Given the description of an element on the screen output the (x, y) to click on. 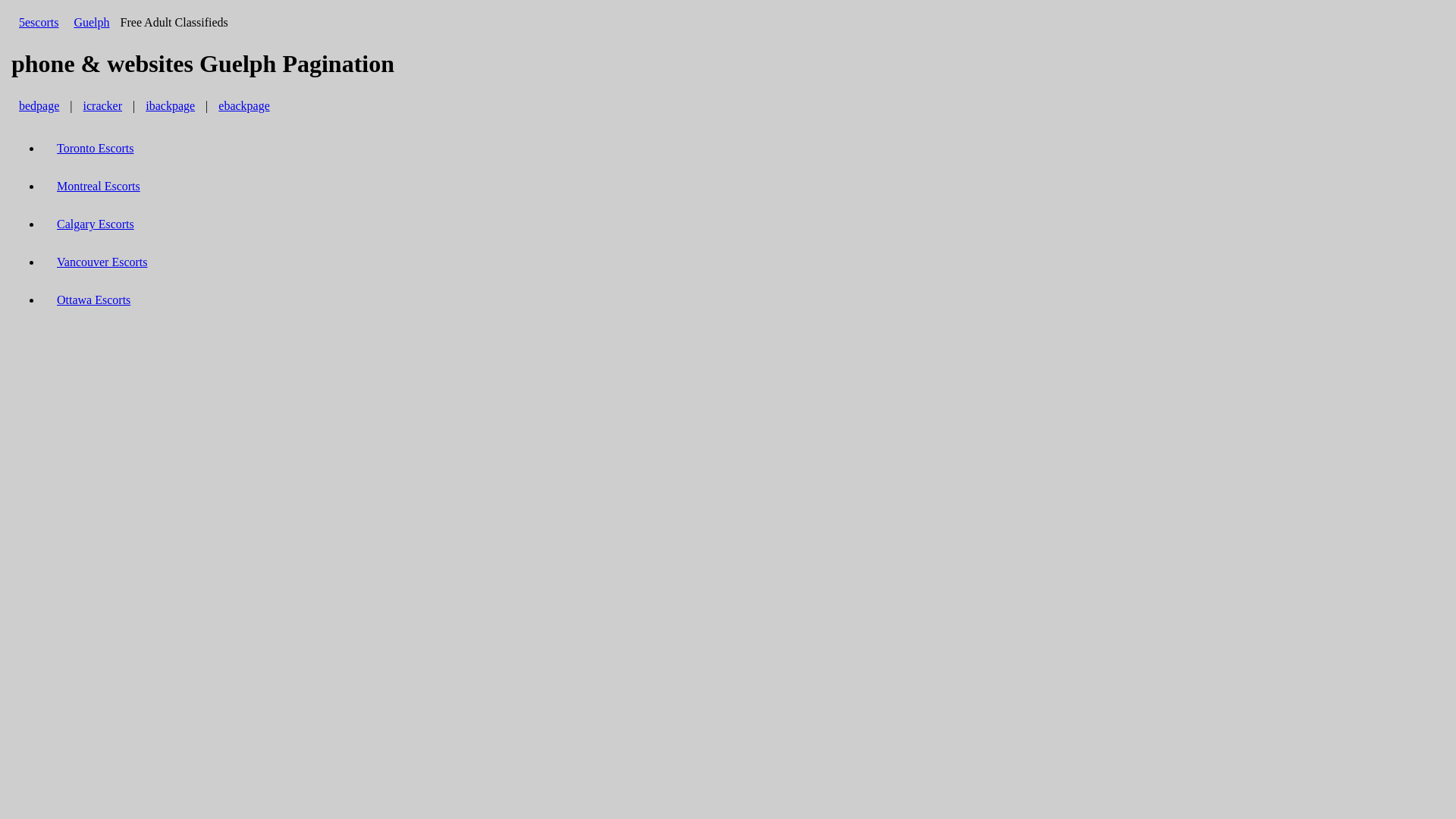
icracker Element type: text (102, 105)
Ottawa Escorts Element type: text (93, 299)
Toronto Escorts Element type: text (95, 148)
bedpage Element type: text (38, 105)
Montreal Escorts Element type: text (98, 186)
ibackpage Element type: text (170, 105)
Guelph Element type: text (90, 22)
Vancouver Escorts Element type: text (102, 261)
ebackpage Element type: text (243, 105)
5escorts Element type: text (38, 22)
Calgary Escorts Element type: text (95, 224)
